Given the description of an element on the screen output the (x, y) to click on. 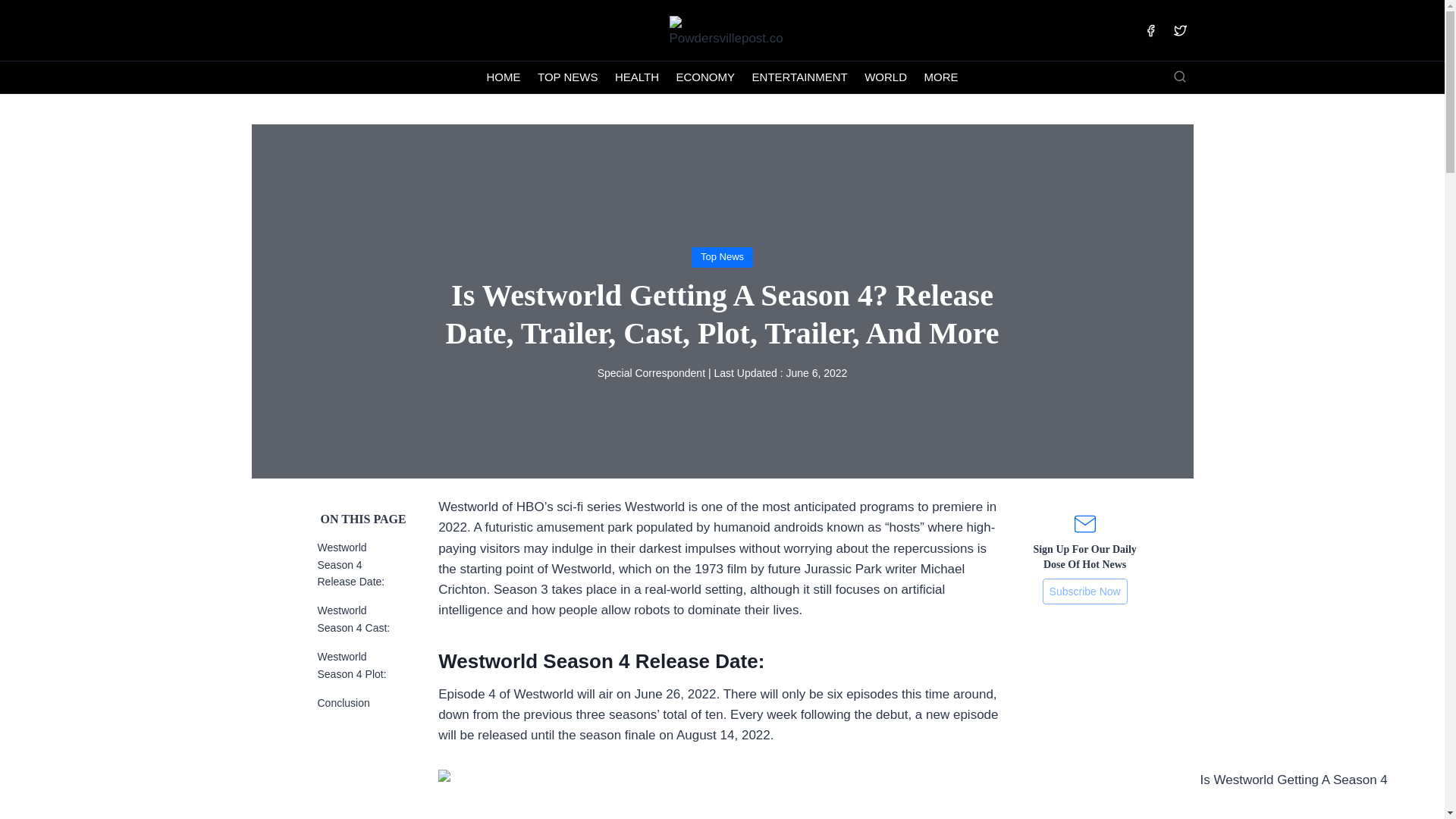
Subscribe Now (1084, 591)
HEALTH (637, 77)
Westworld Season 4 Release Date: (350, 564)
Conclusion (343, 702)
ENTERTAINMENT (799, 77)
Westworld Season 4 Plot: (351, 664)
ECONOMY (704, 77)
Westworld Season 4 Cast: (353, 618)
TOP NEWS (568, 77)
HOME (503, 77)
Top News (722, 256)
MORE (940, 77)
WORLD (885, 77)
